Given the description of an element on the screen output the (x, y) to click on. 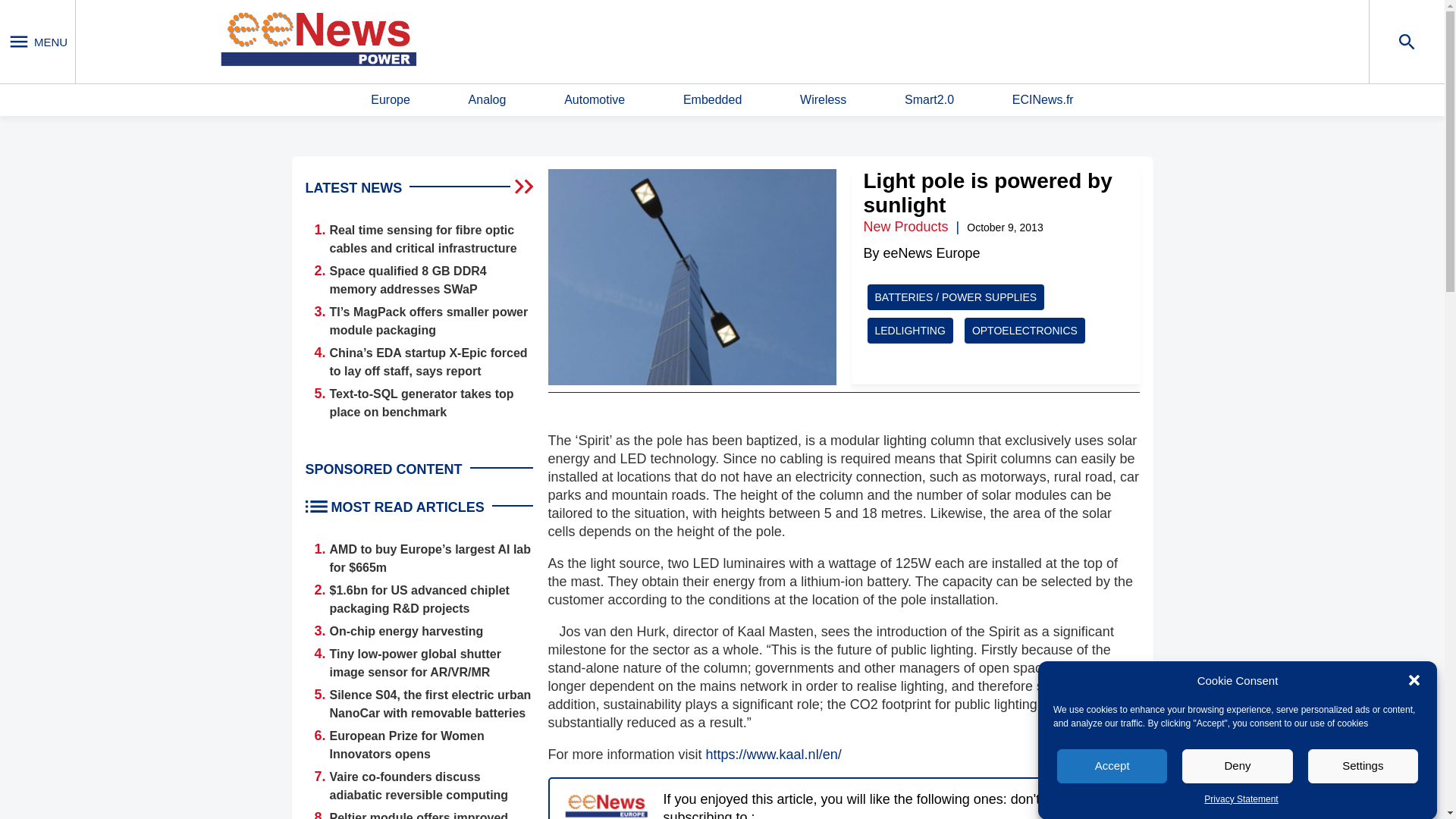
Smart2.0 (928, 99)
Embedded (711, 99)
ECINews.fr (1042, 99)
Wireless (822, 99)
Europe (390, 99)
Analog (487, 99)
Automotive (594, 99)
